Given the description of an element on the screen output the (x, y) to click on. 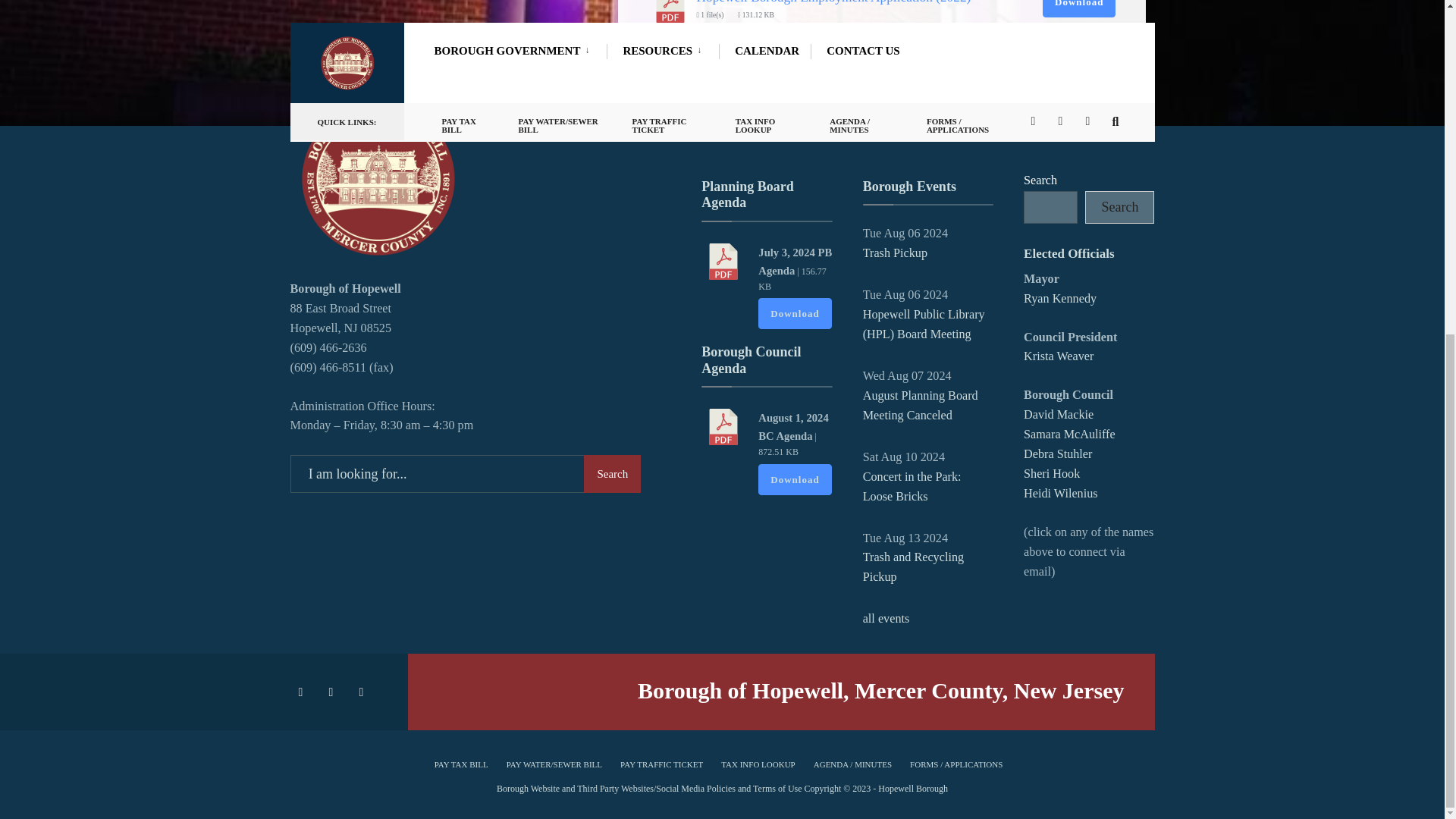
all events (886, 618)
I am looking for... (464, 474)
